Given the description of an element on the screen output the (x, y) to click on. 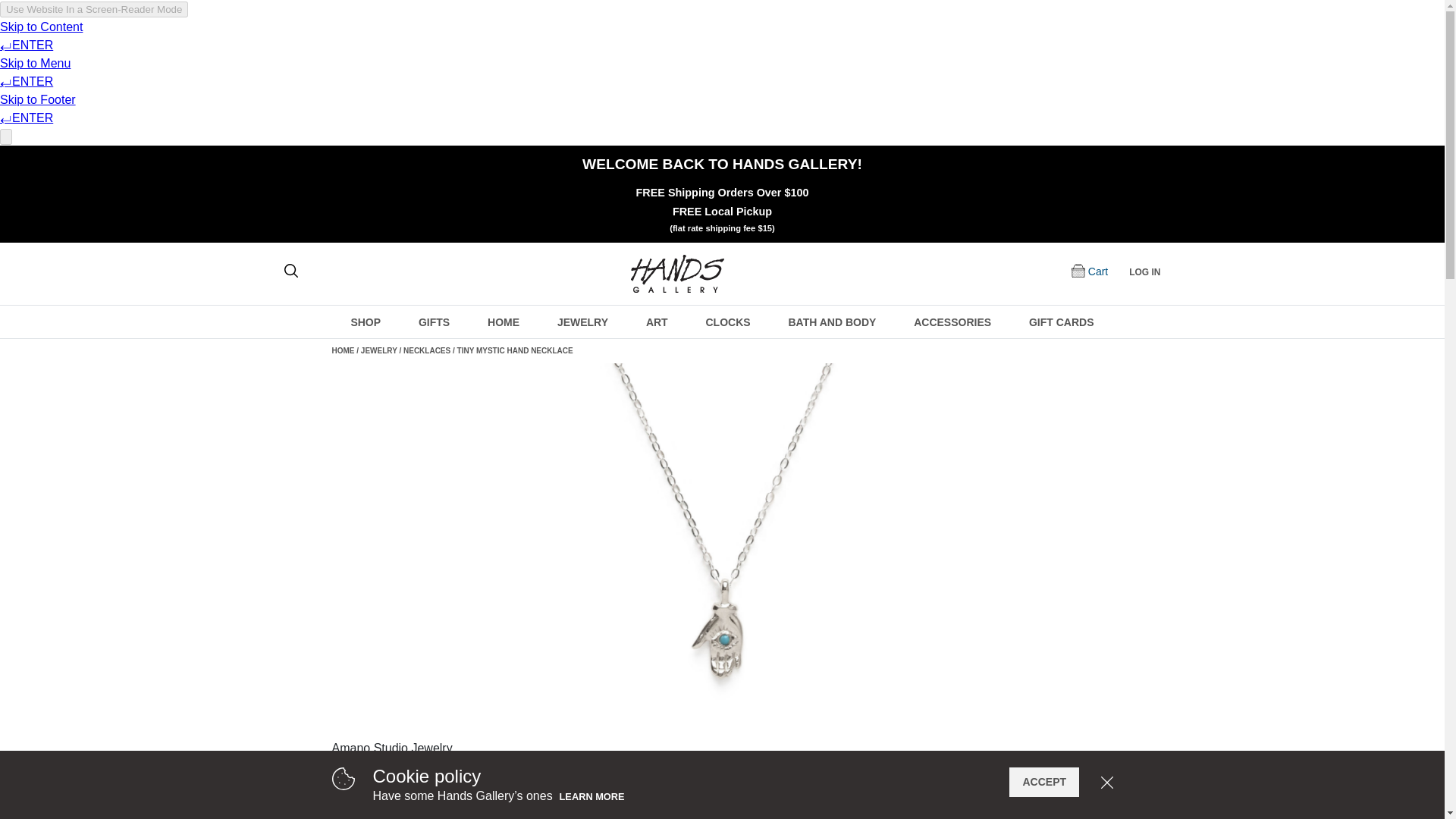
SHOP (365, 322)
View your shopping cart (1097, 271)
GIFTS (433, 322)
Cart (1097, 271)
HOME (503, 322)
LOG IN (1144, 272)
JEWELRY (582, 322)
